Given the description of an element on the screen output the (x, y) to click on. 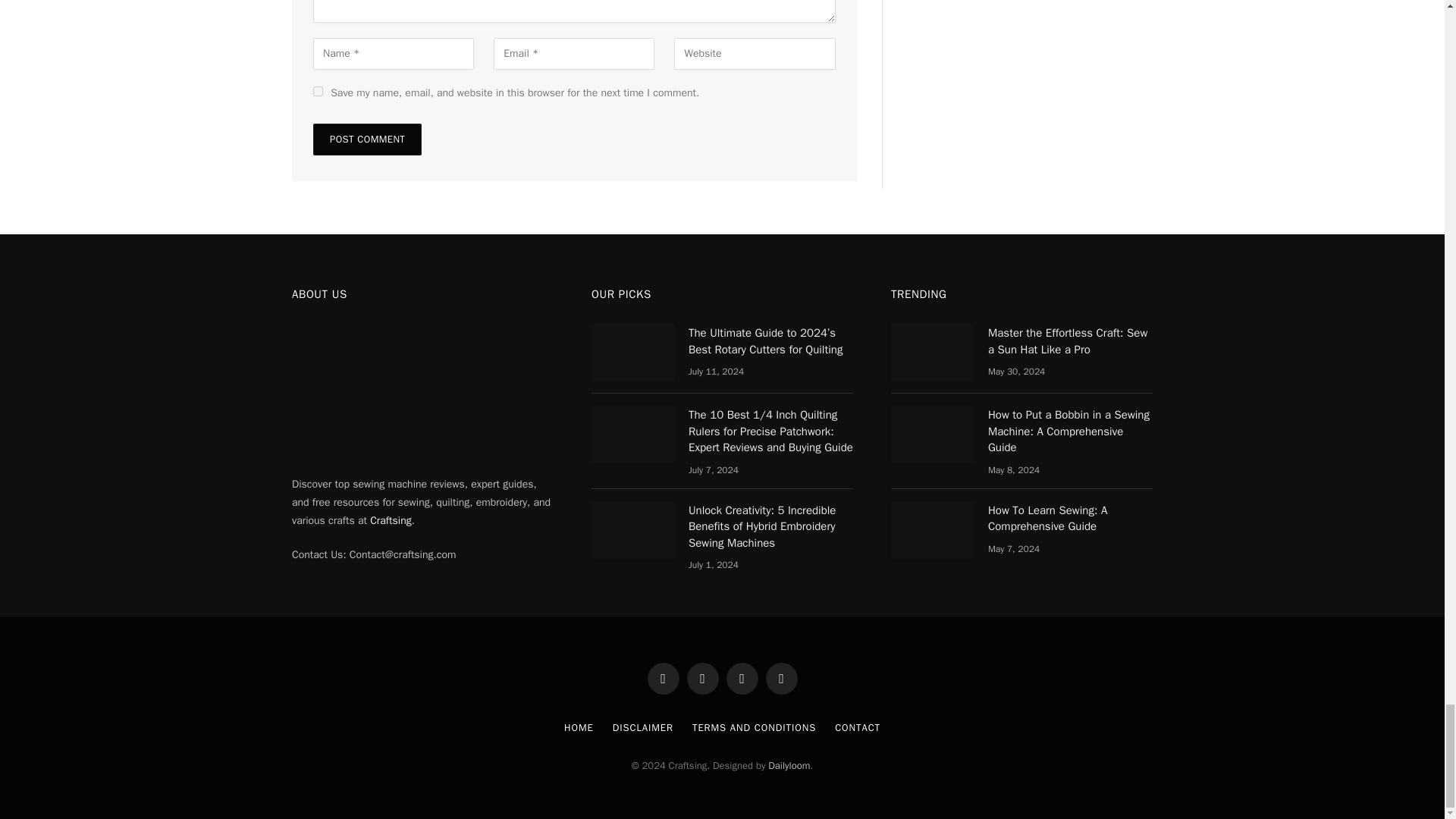
Post Comment (367, 139)
yes (318, 91)
